Given the description of an element on the screen output the (x, y) to click on. 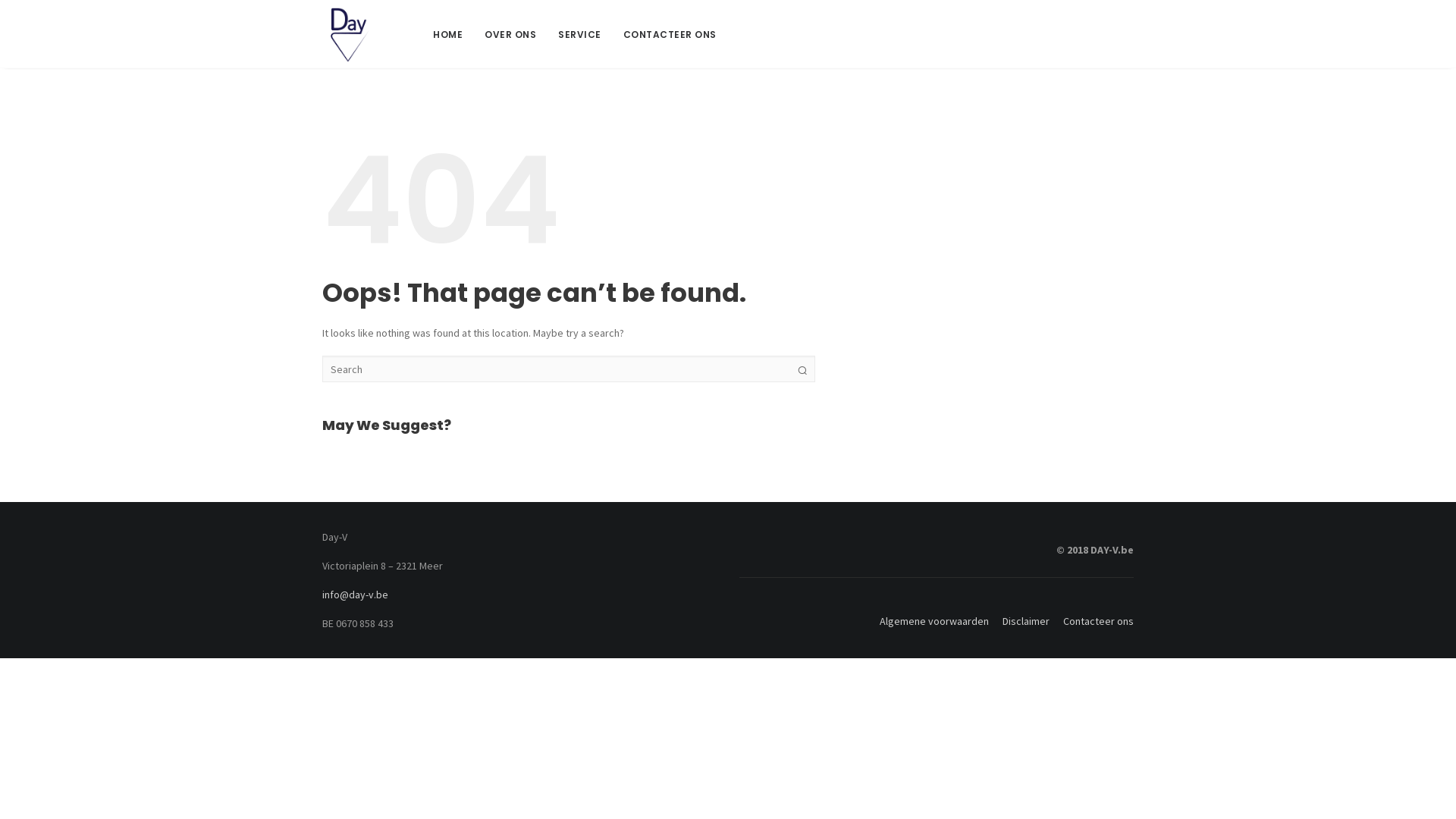
OVER ONS Element type: text (510, 34)
CONTACTEER ONS Element type: text (669, 34)
SERVICE Element type: text (579, 34)
HOME Element type: text (447, 34)
Contacteer ons Element type: text (1092, 620)
Disclaimer Element type: text (1020, 620)
info@day-v.be Element type: text (355, 594)
Algemene voorwaarden Element type: text (933, 620)
